Given the description of an element on the screen output the (x, y) to click on. 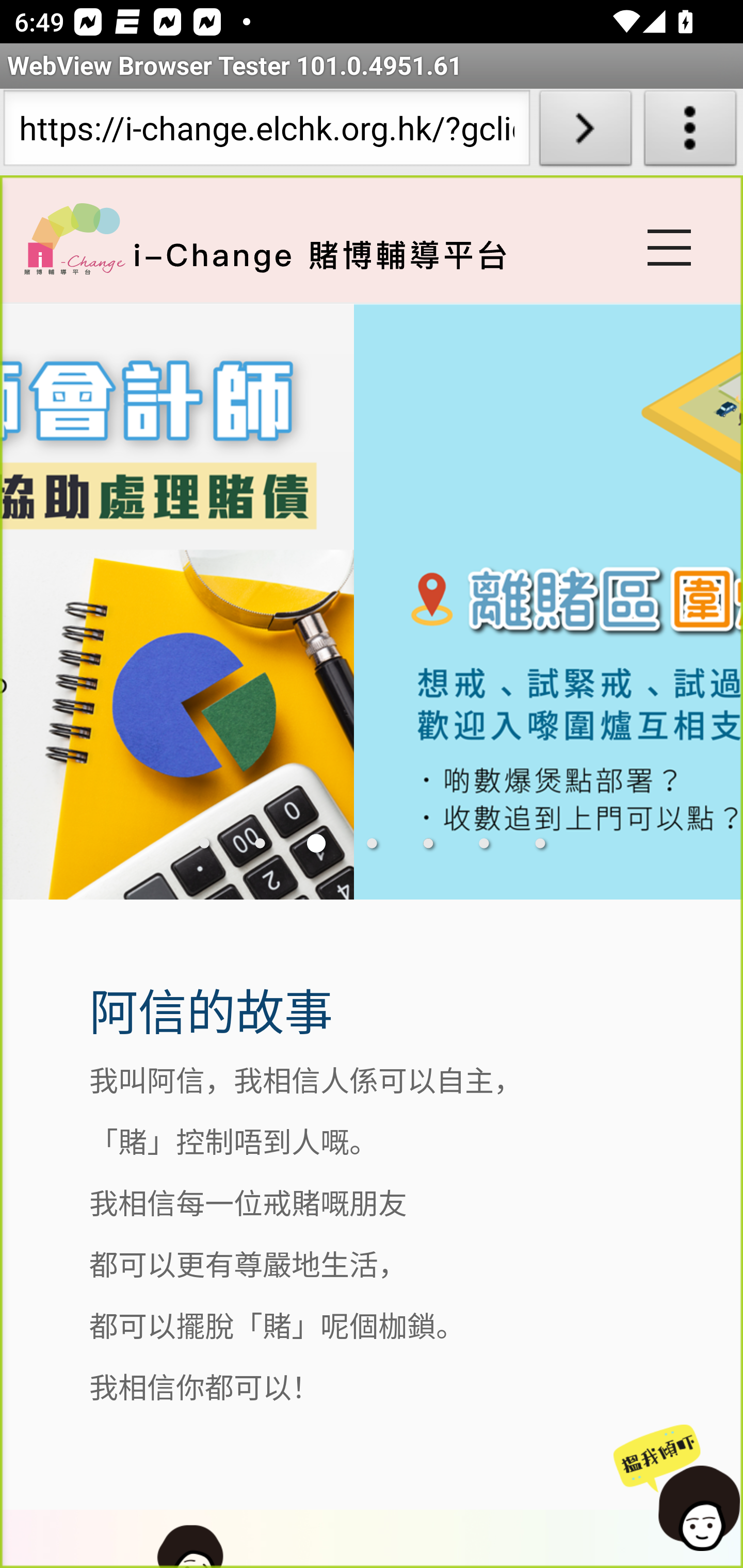
Load URL (585, 132)
About WebView (690, 132)
Home (74, 238)
Chat Now (679, 1488)
